Given the description of an element on the screen output the (x, y) to click on. 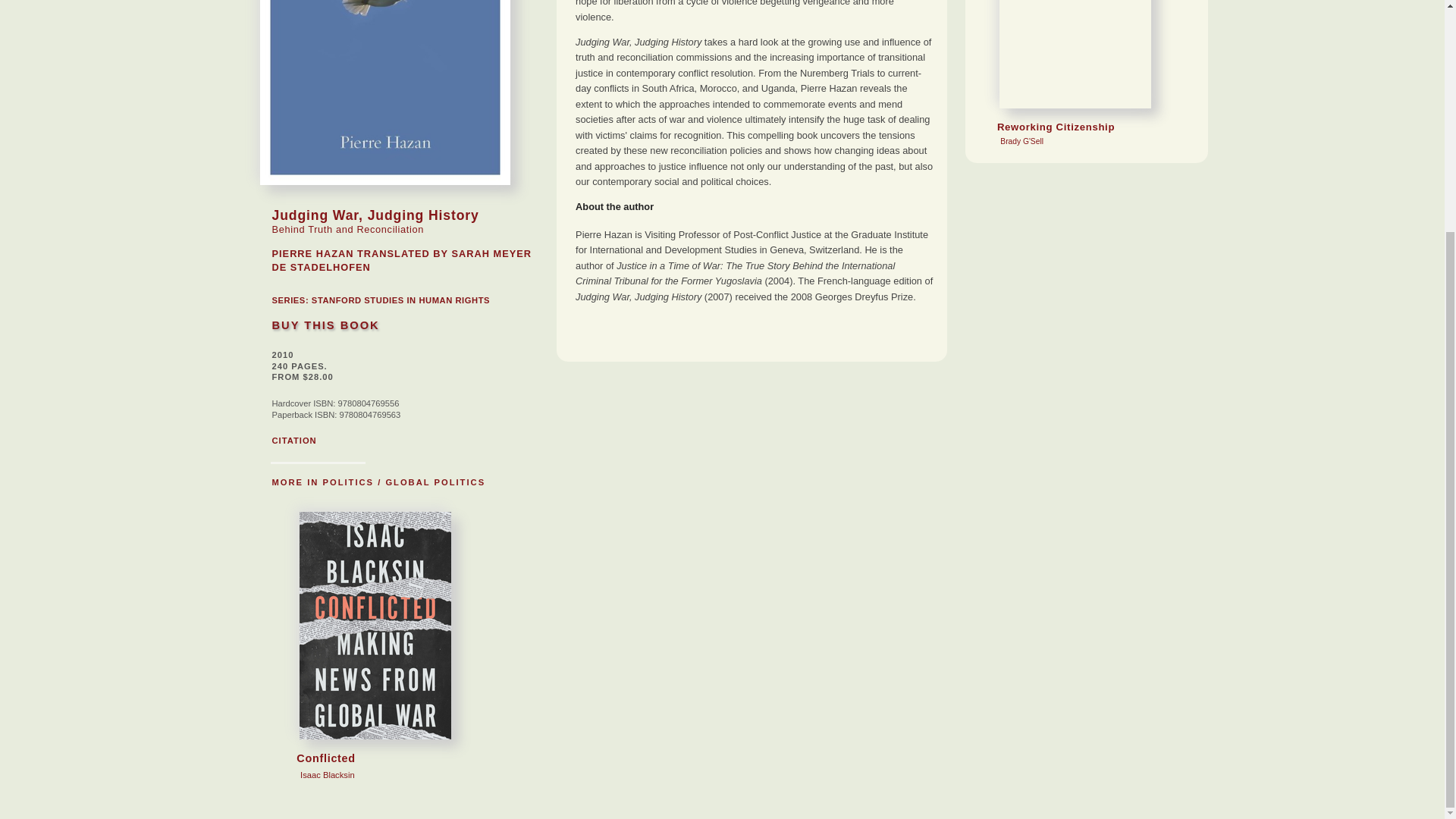
BUY THIS BOOK (324, 325)
STANFORD STUDIES IN HUMAN RIGHTS (369, 699)
CITATION (400, 299)
